Given the description of an element on the screen output the (x, y) to click on. 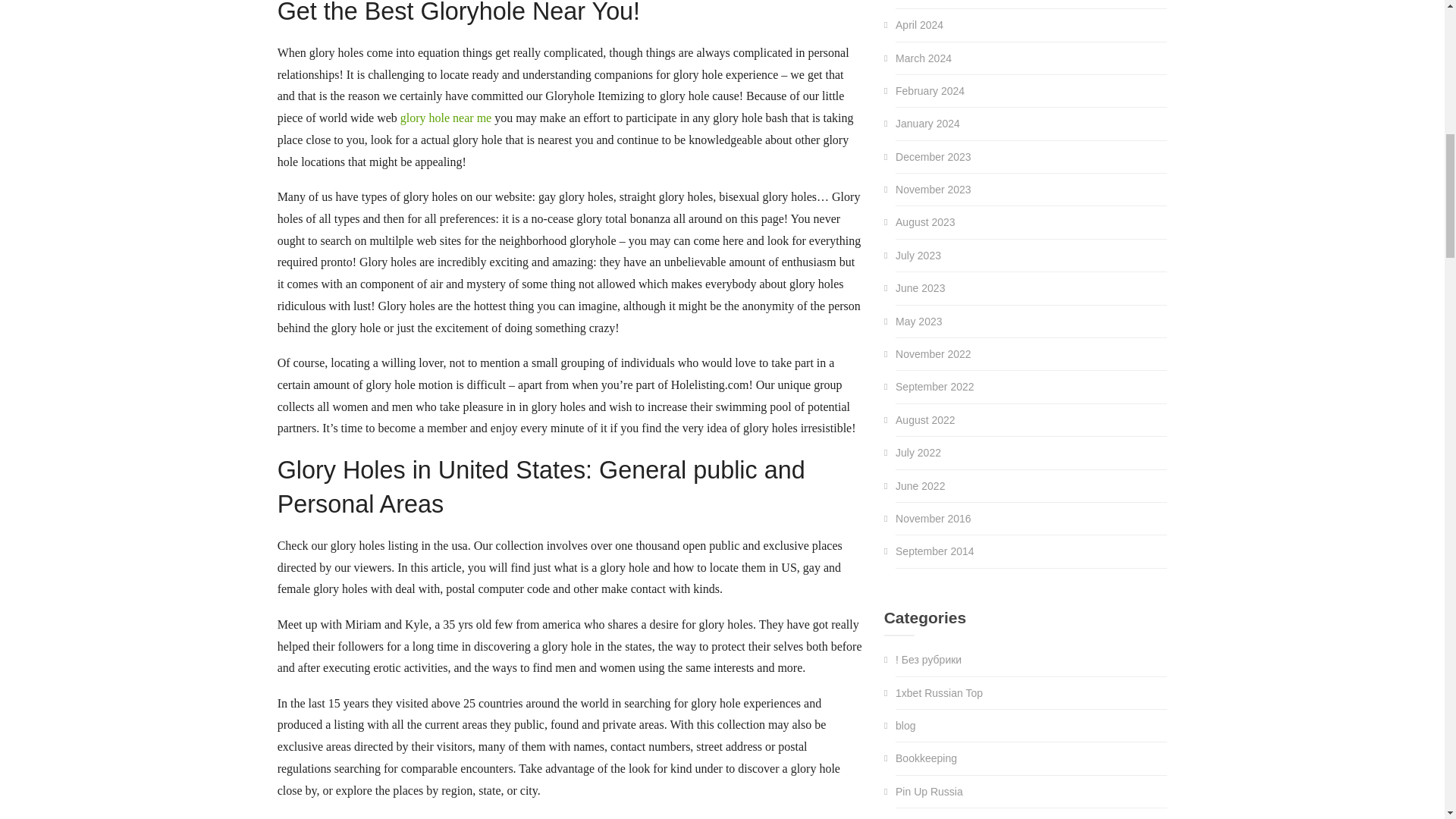
January 2024 (927, 123)
November 2022 (933, 354)
August 2022 (925, 419)
August 2023 (925, 222)
November 2023 (933, 189)
July 2022 (917, 452)
September 2022 (934, 386)
glory hole near me (446, 117)
May 2023 (918, 321)
June 2023 (919, 287)
April 2024 (919, 24)
December 2023 (933, 156)
June 2022 (919, 485)
July 2023 (917, 255)
March 2024 (923, 57)
